Given the description of an element on the screen output the (x, y) to click on. 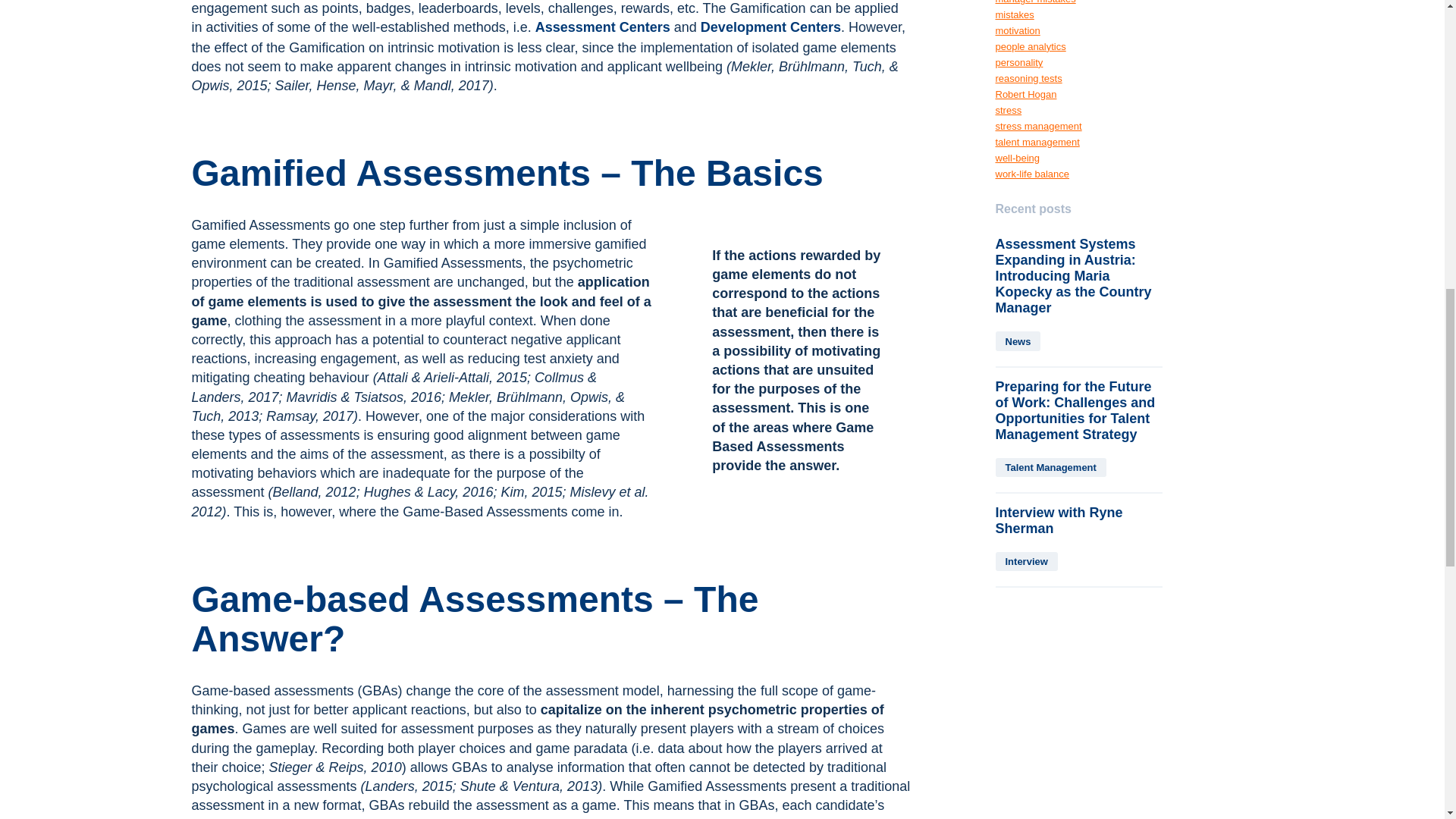
Assessment Centers (602, 28)
Development Centers (770, 28)
